Given the description of an element on the screen output the (x, y) to click on. 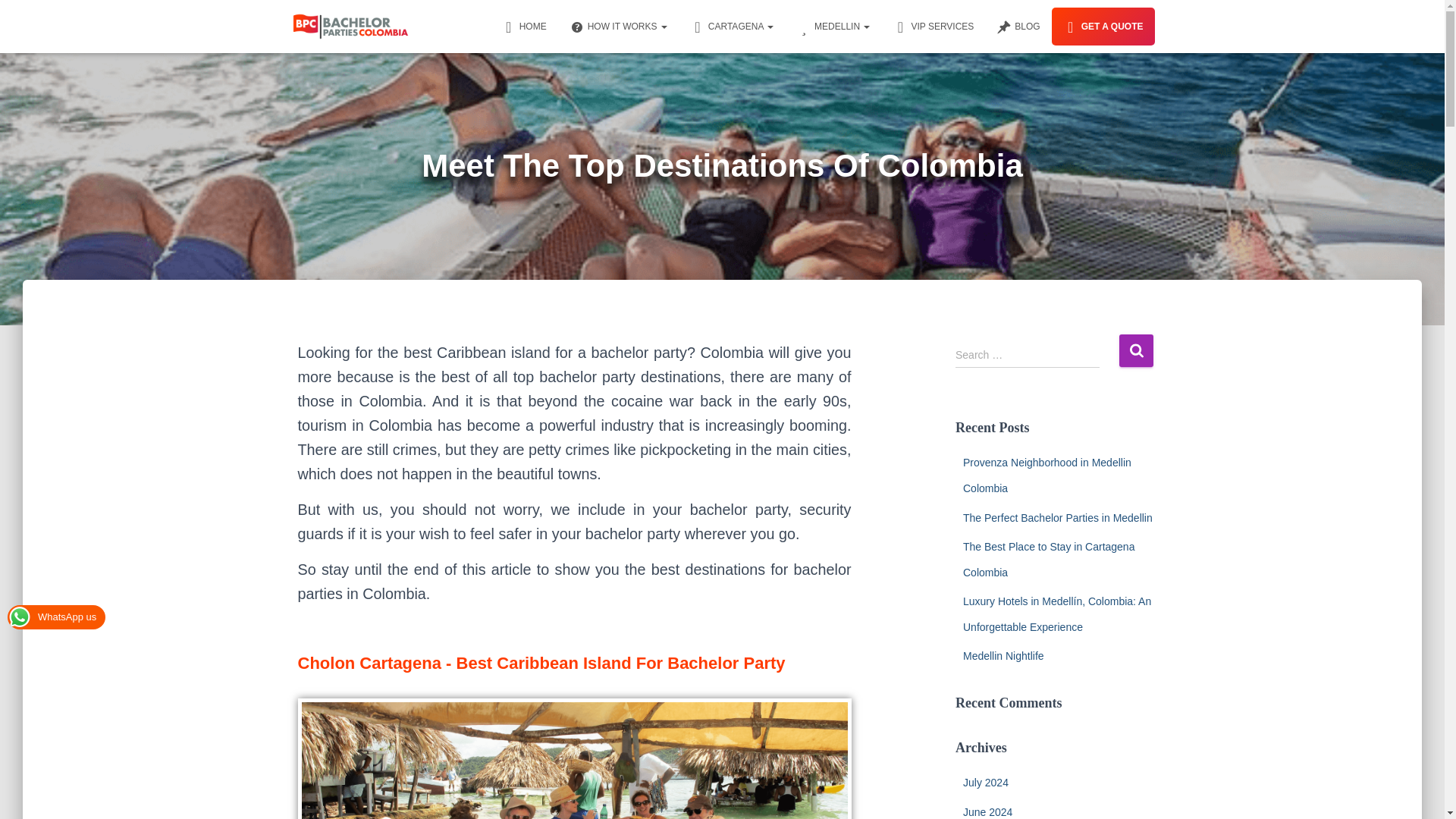
Home (523, 26)
Cartagena (731, 26)
How It Works (617, 26)
VIP SERVICES (932, 26)
BLOG (1018, 26)
Search (1136, 350)
MEDELLIN (832, 26)
Search (1136, 350)
HOME (523, 26)
GET A QUOTE (1102, 26)
CARTAGENA (731, 26)
HOW IT WORKS (617, 26)
